Given the description of an element on the screen output the (x, y) to click on. 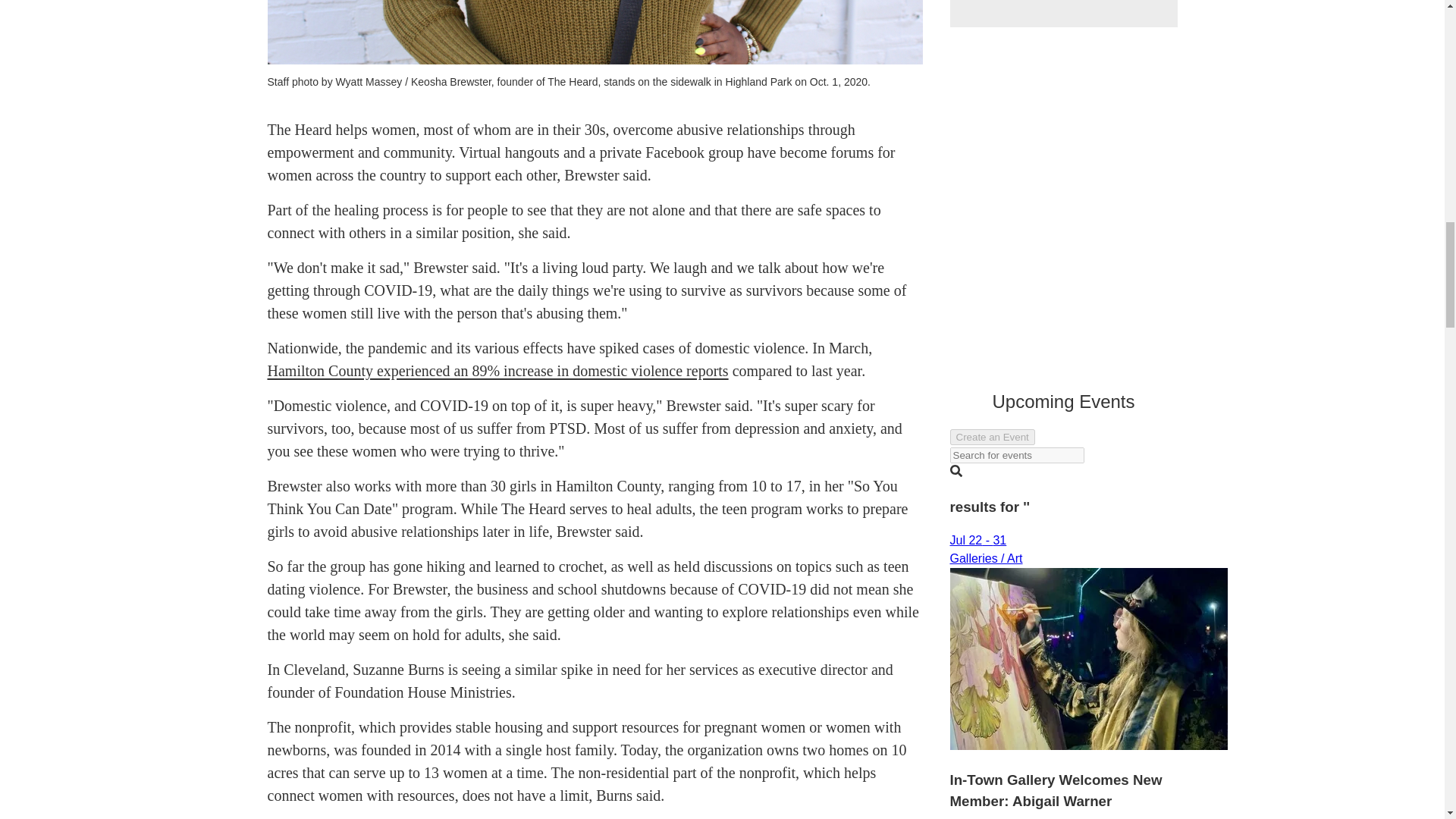
3rd party ad content (1062, 13)
